Given the description of an element on the screen output the (x, y) to click on. 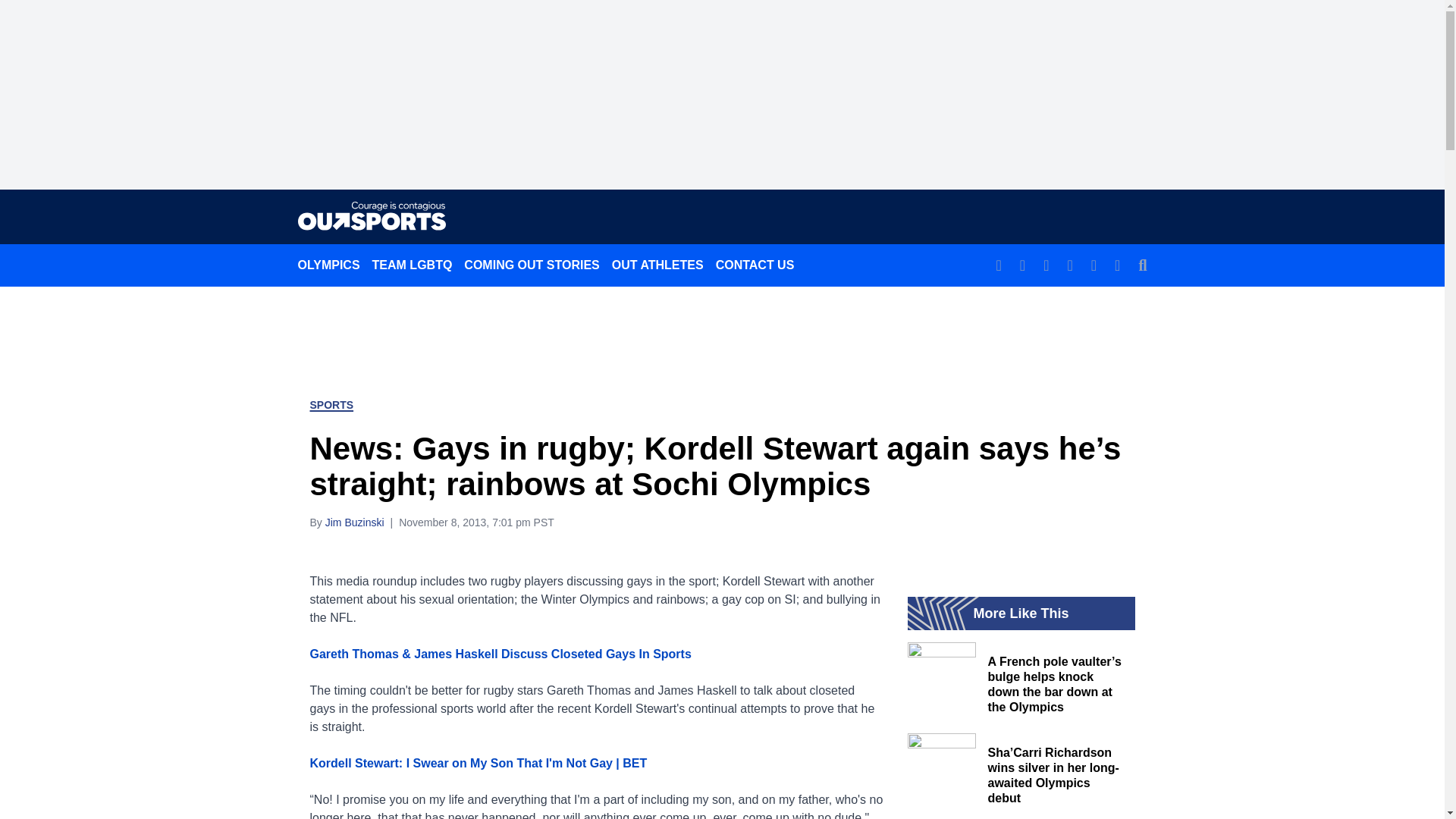
OLYMPICS (328, 265)
Jim Buzinski (354, 521)
SPORTS (330, 404)
OUT ATHLETES (657, 265)
COMING OUT STORIES (531, 265)
CONTACT US (755, 265)
TEAM LGBTQ (412, 265)
